Given the description of an element on the screen output the (x, y) to click on. 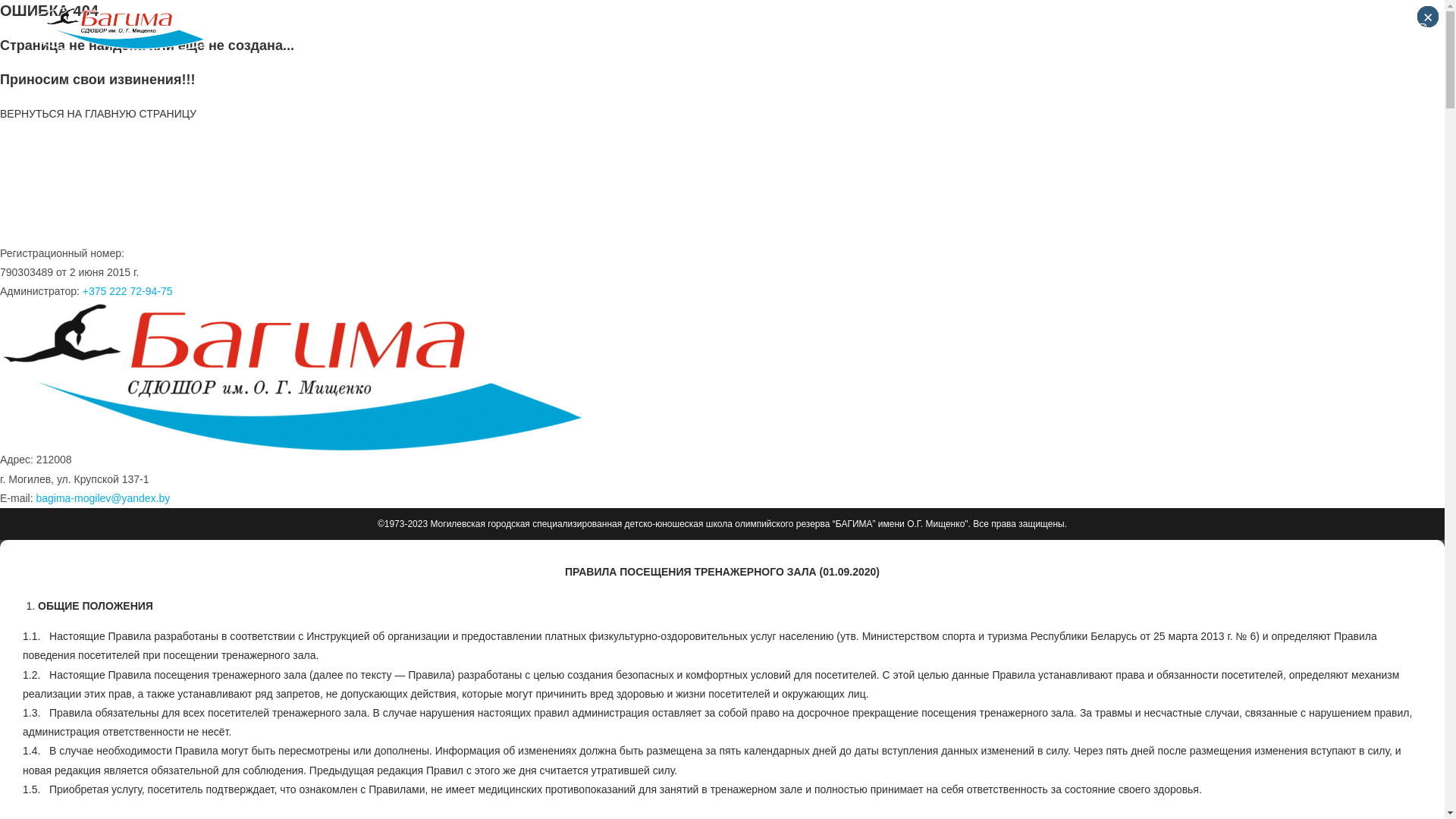
+375 222 72-94-75 Element type: text (127, 291)
bagima-mogilev@yandex.by Element type: text (102, 498)
